Given the description of an element on the screen output the (x, y) to click on. 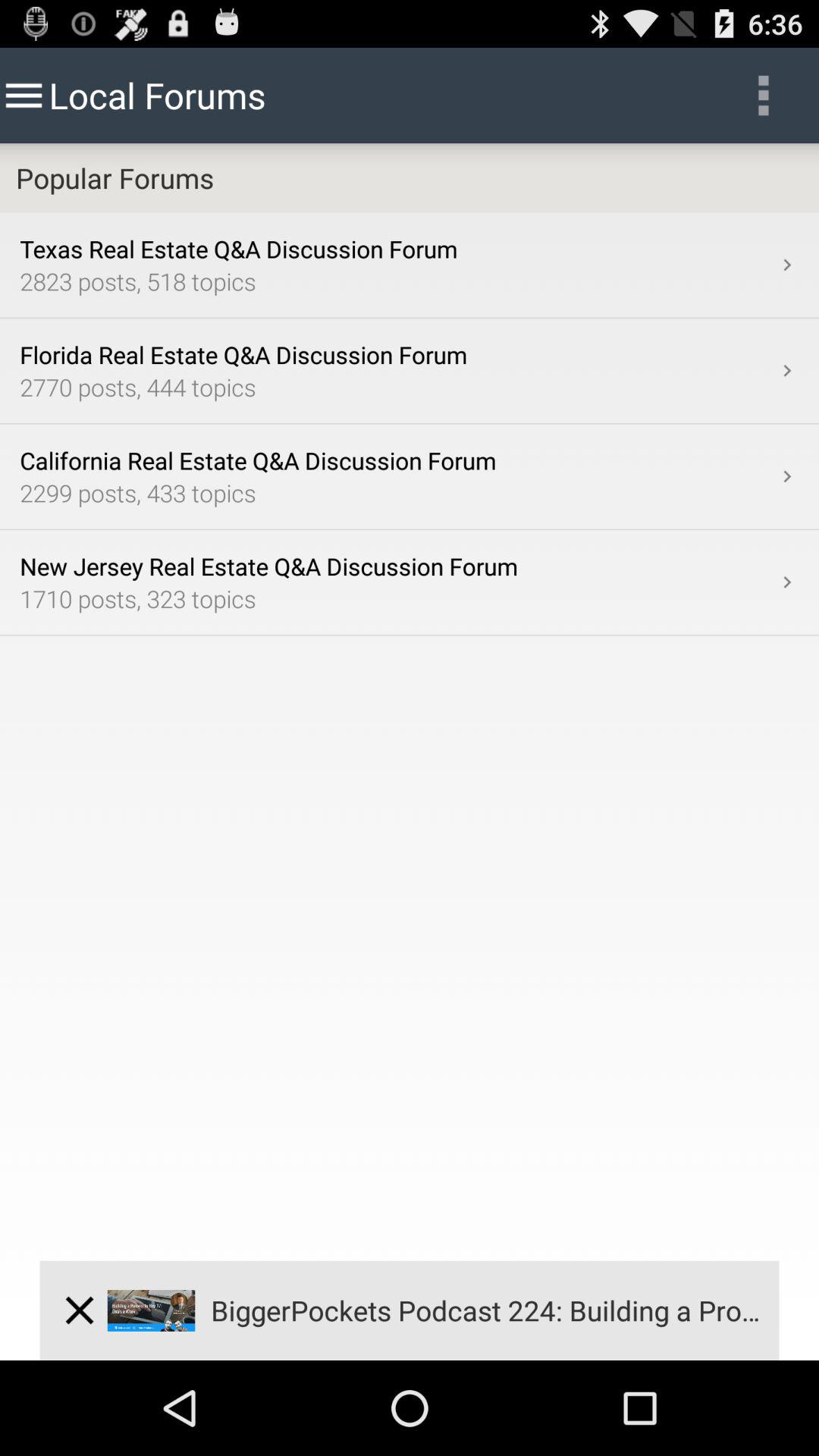
press the app below the popular forums (787, 264)
